Given the description of an element on the screen output the (x, y) to click on. 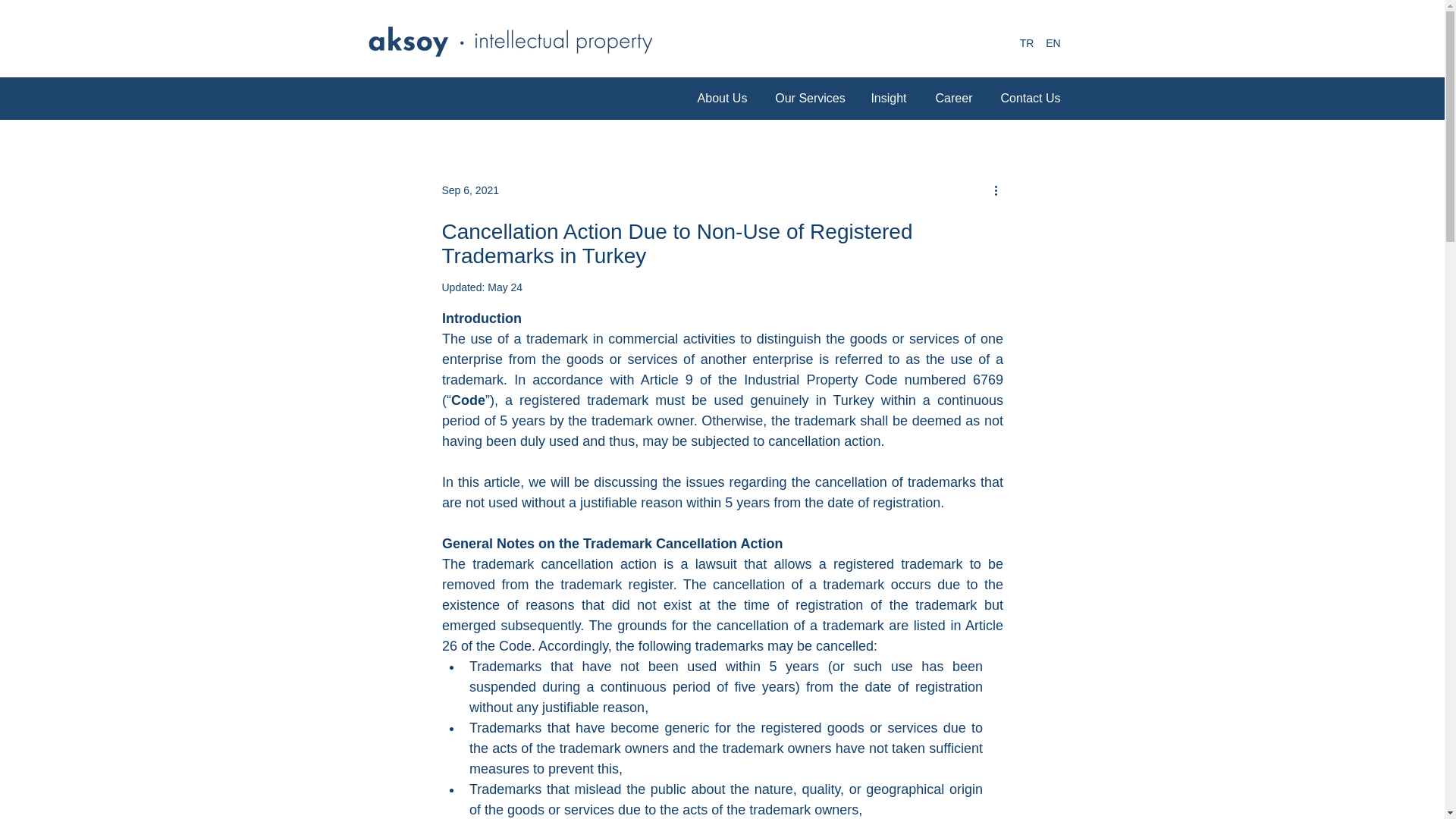
Insight (888, 98)
EN (1054, 43)
Career (953, 98)
Our Services (809, 98)
Contact Us (1029, 98)
May 24 (504, 287)
Sep 6, 2021 (470, 189)
TR (1026, 43)
About Us (721, 98)
